Given the description of an element on the screen output the (x, y) to click on. 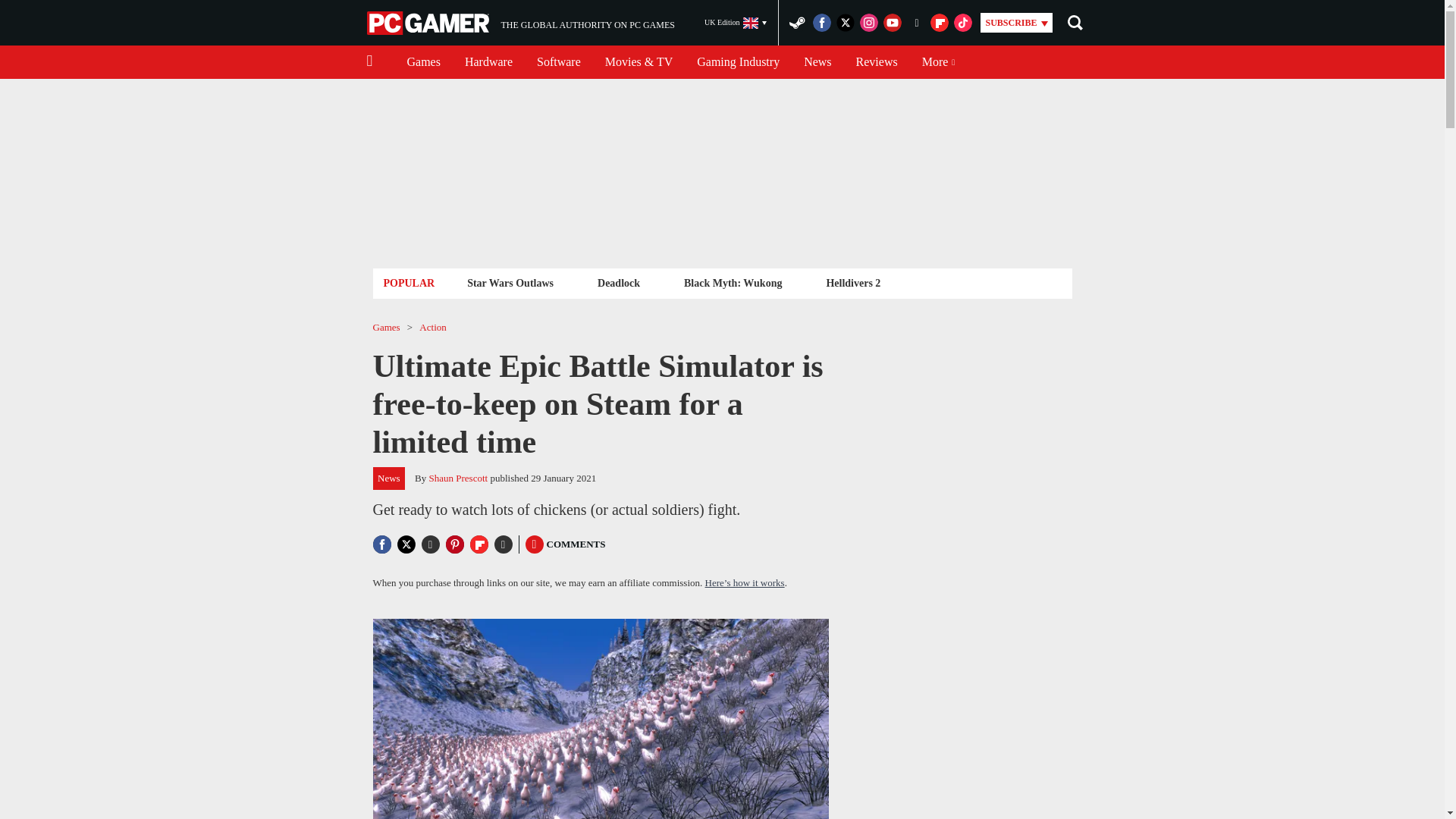
Star Wars Outlaws (510, 282)
Reviews (877, 61)
PC Gamer (429, 22)
Games (422, 61)
UK Edition (520, 22)
Gaming Industry (735, 22)
News (738, 61)
Deadlock (817, 61)
Software (618, 282)
